Given the description of an element on the screen output the (x, y) to click on. 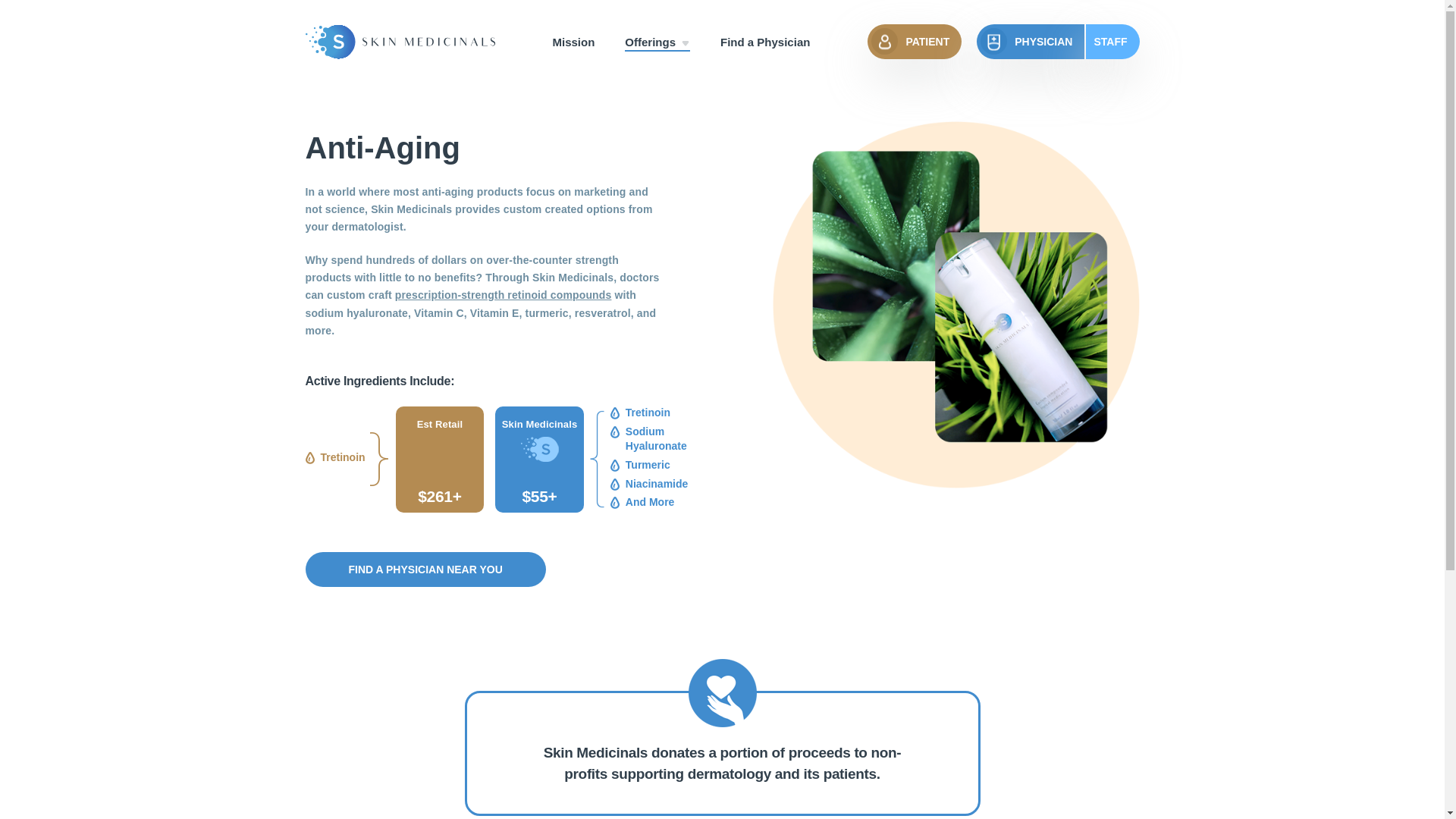
PATIENT (913, 41)
PHYSICIAN (1030, 41)
STAFF (1112, 41)
Find a Physician (764, 42)
Mission (572, 42)
FIND A PHYSICIAN NEAR YOU (424, 569)
Offerings (657, 42)
